Given the description of an element on the screen output the (x, y) to click on. 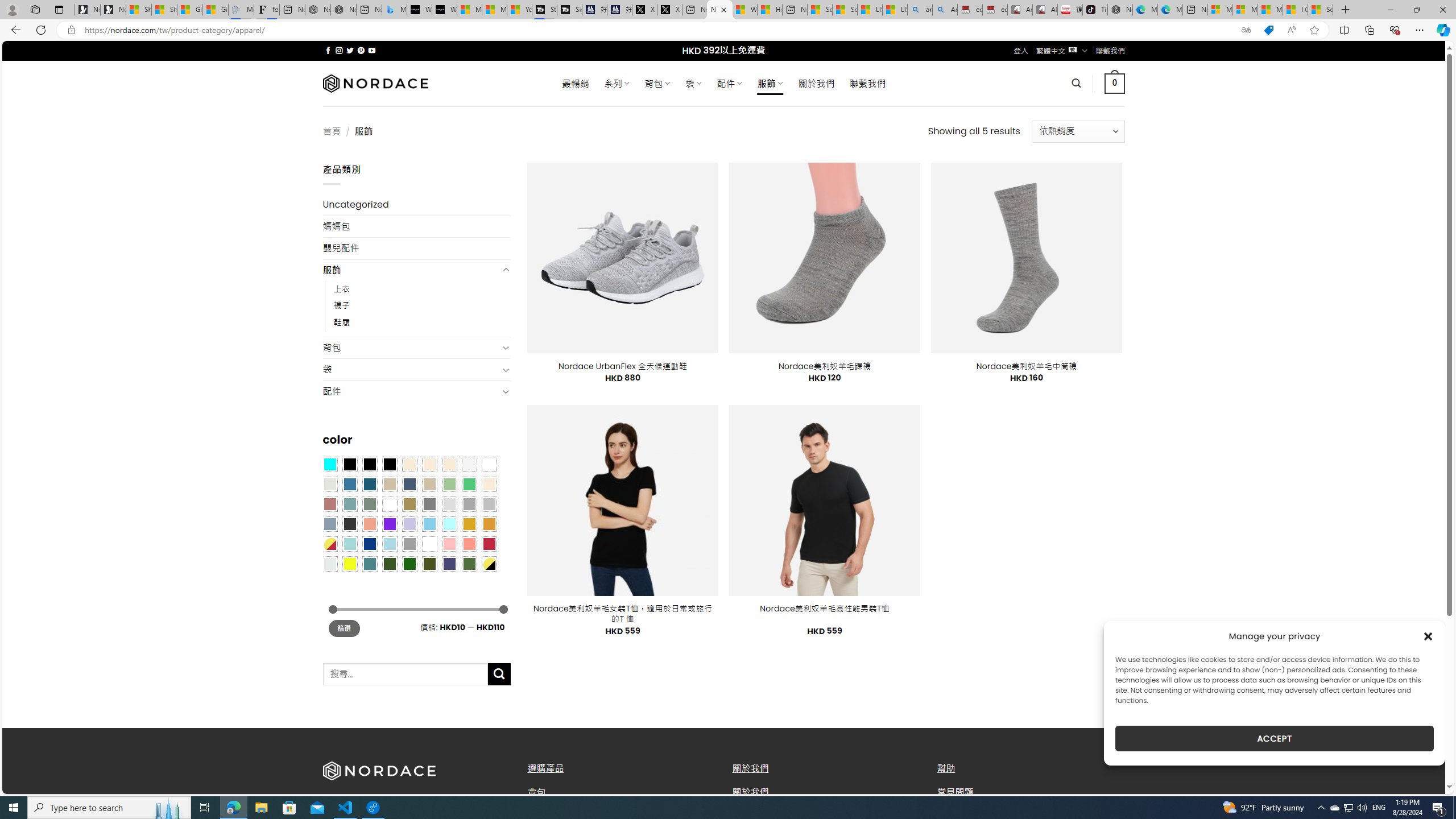
Uncategorized (416, 204)
ACCEPT (1274, 738)
